Given the description of an element on the screen output the (x, y) to click on. 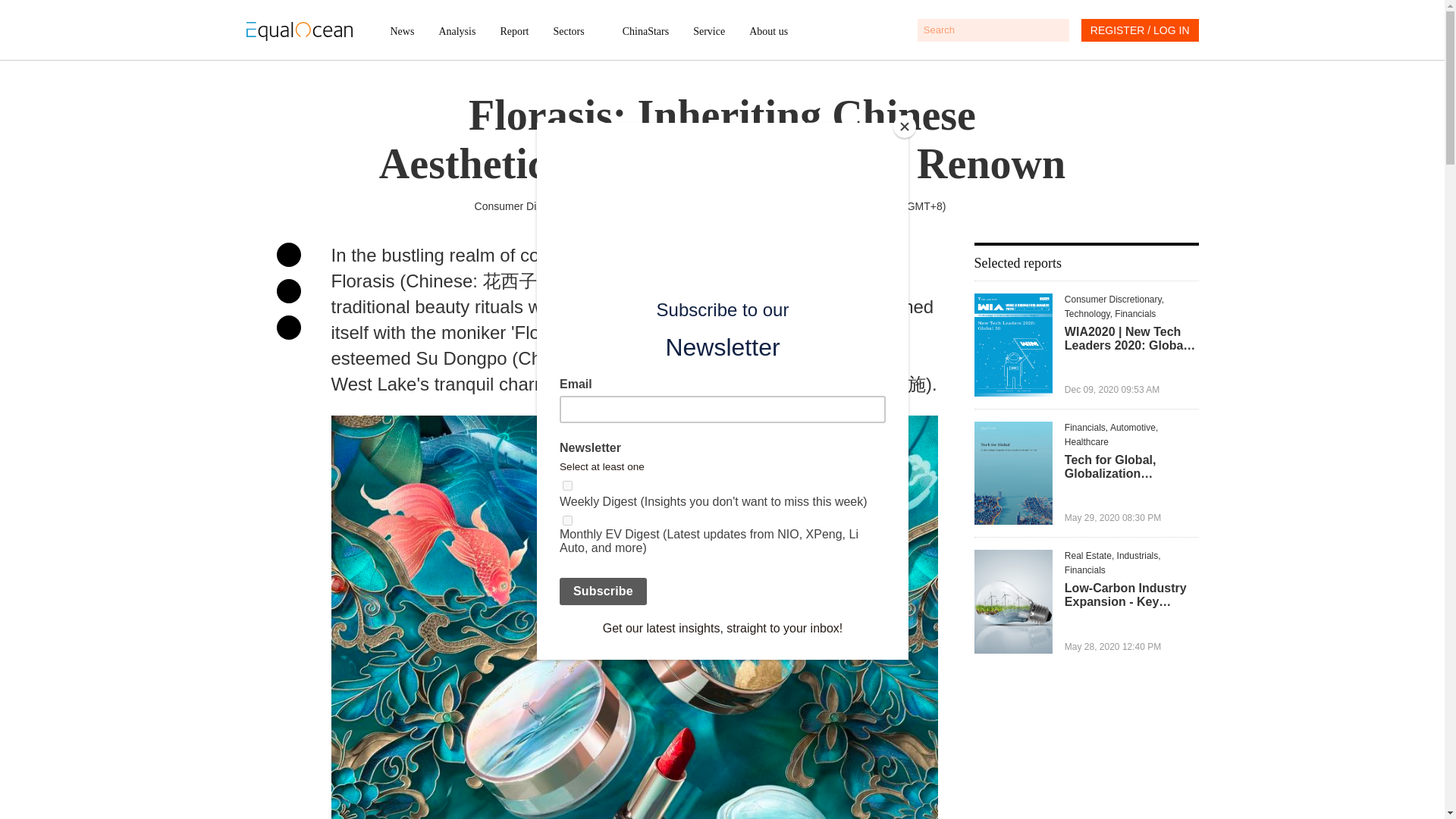
Consumer Discretionary, (1113, 299)
ChinaStars (645, 31)
Technology, (1089, 313)
Financials (1135, 313)
Consumer Discretionary (531, 205)
